Given the description of an element on the screen output the (x, y) to click on. 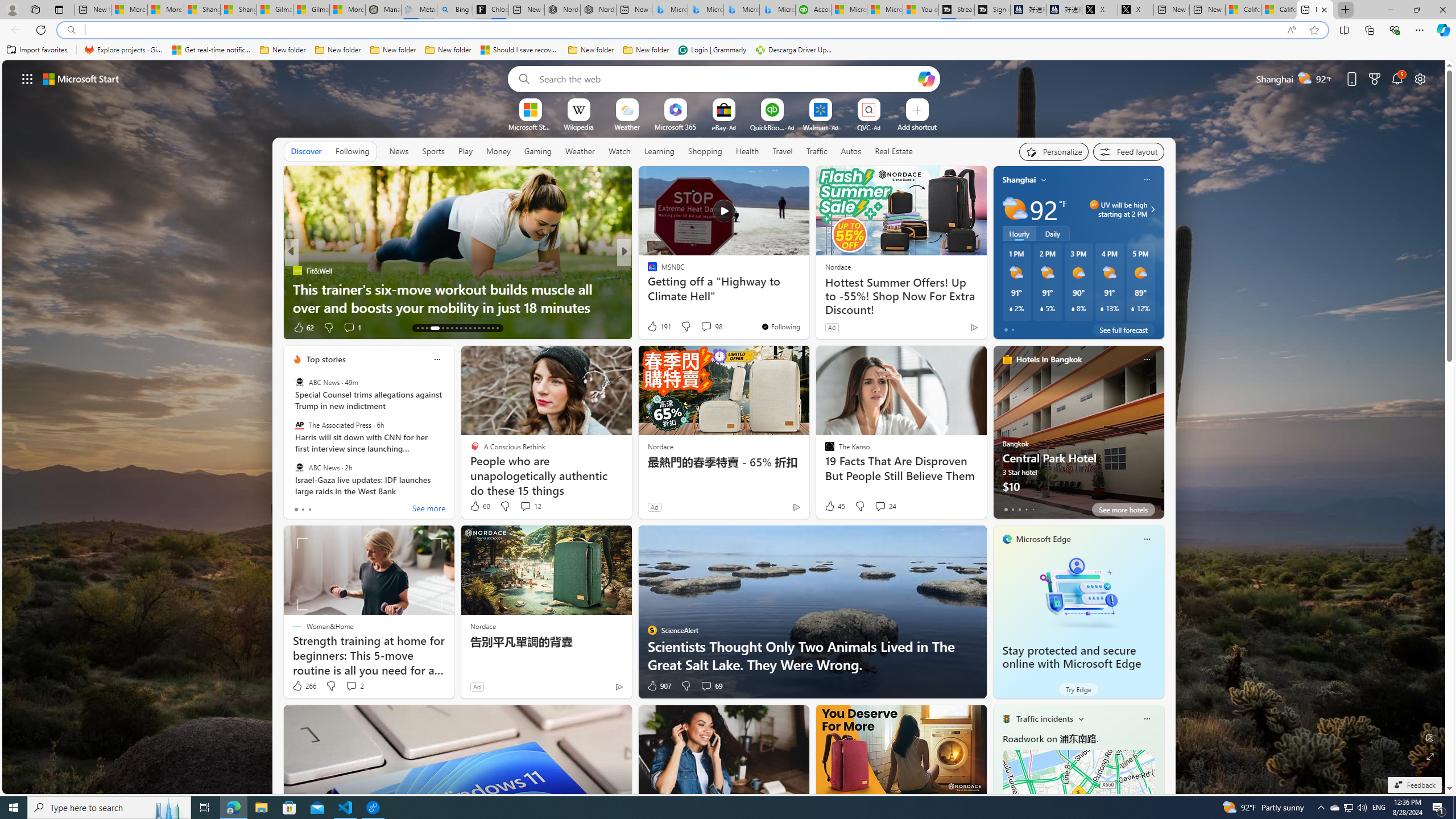
Nostalgic Buzz (647, 270)
ETNT Mind+Body (647, 270)
View comments 1 Comment (698, 327)
Descarga Driver Updater (794, 49)
View comments 12 Comment (530, 505)
View comments 4 Comment (702, 327)
Microsoft start (81, 78)
